Given the description of an element on the screen output the (x, y) to click on. 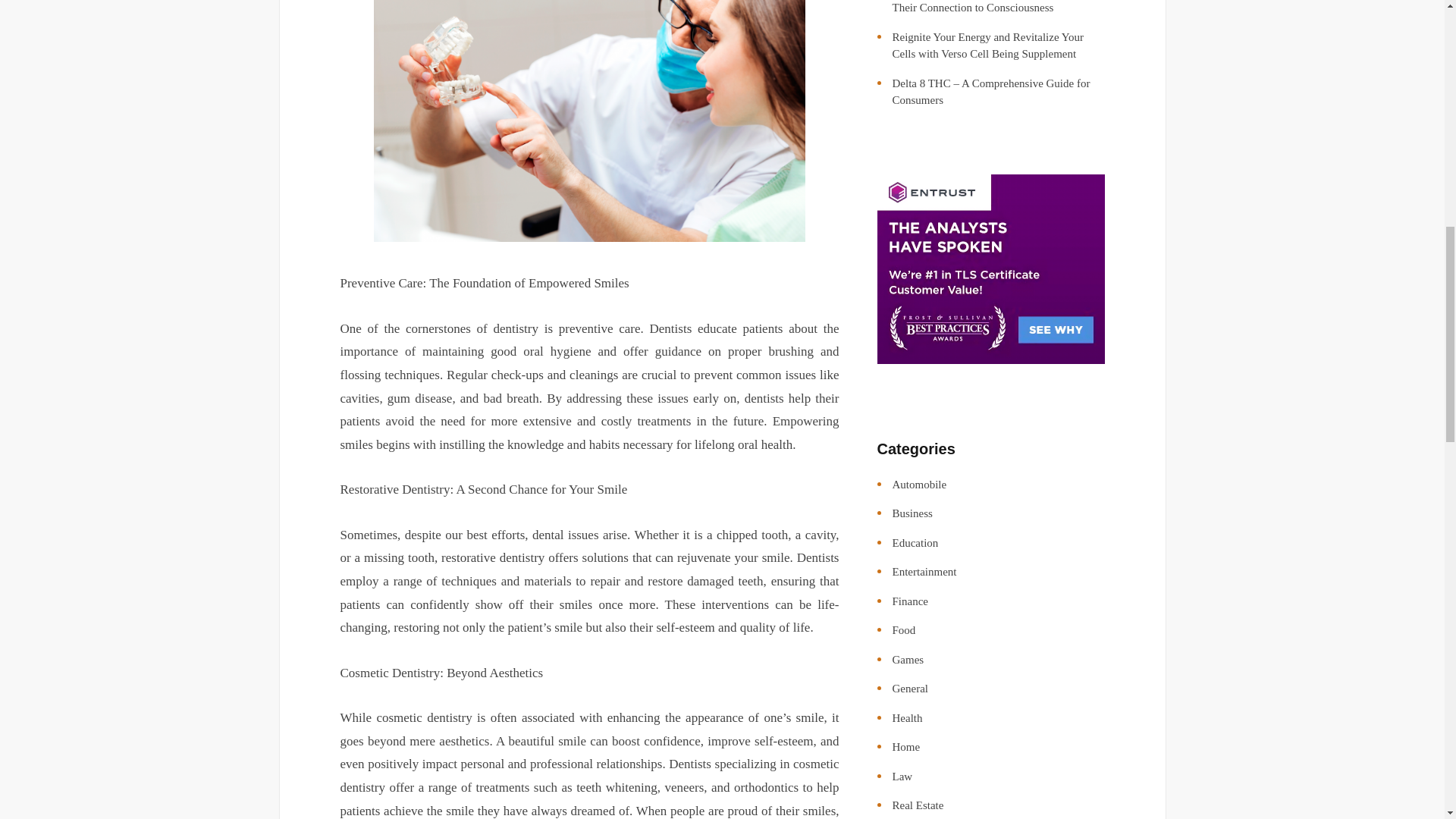
Automobile (918, 484)
Home (905, 746)
Food (903, 630)
Education (914, 542)
Business (911, 512)
Games (907, 659)
Real Estate (917, 805)
Entertainment (923, 571)
Health (906, 717)
